Given the description of an element on the screen output the (x, y) to click on. 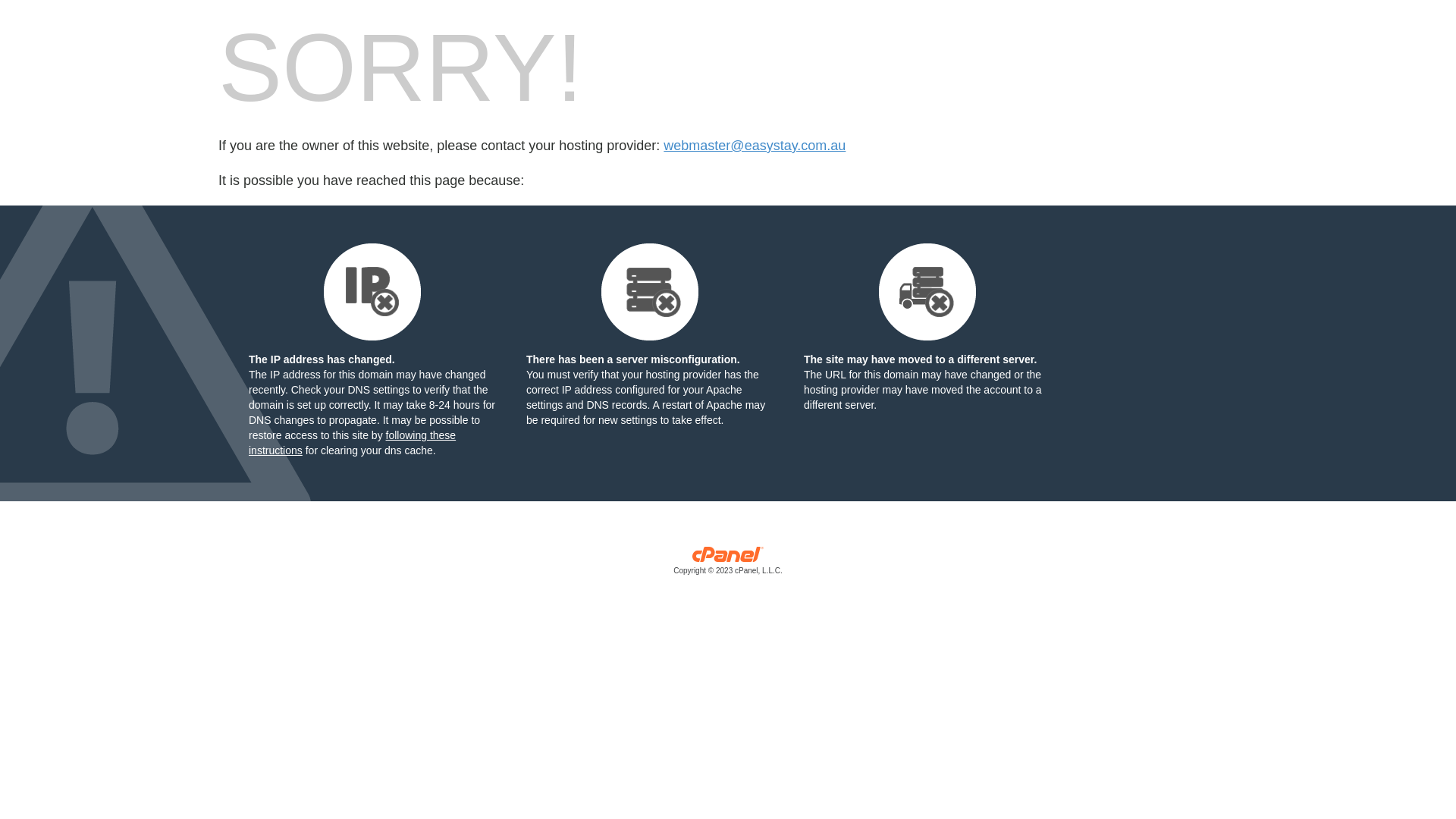
following these instructions Element type: text (351, 442)
webmaster@easystay.com.au Element type: text (754, 145)
